Given the description of an element on the screen output the (x, y) to click on. 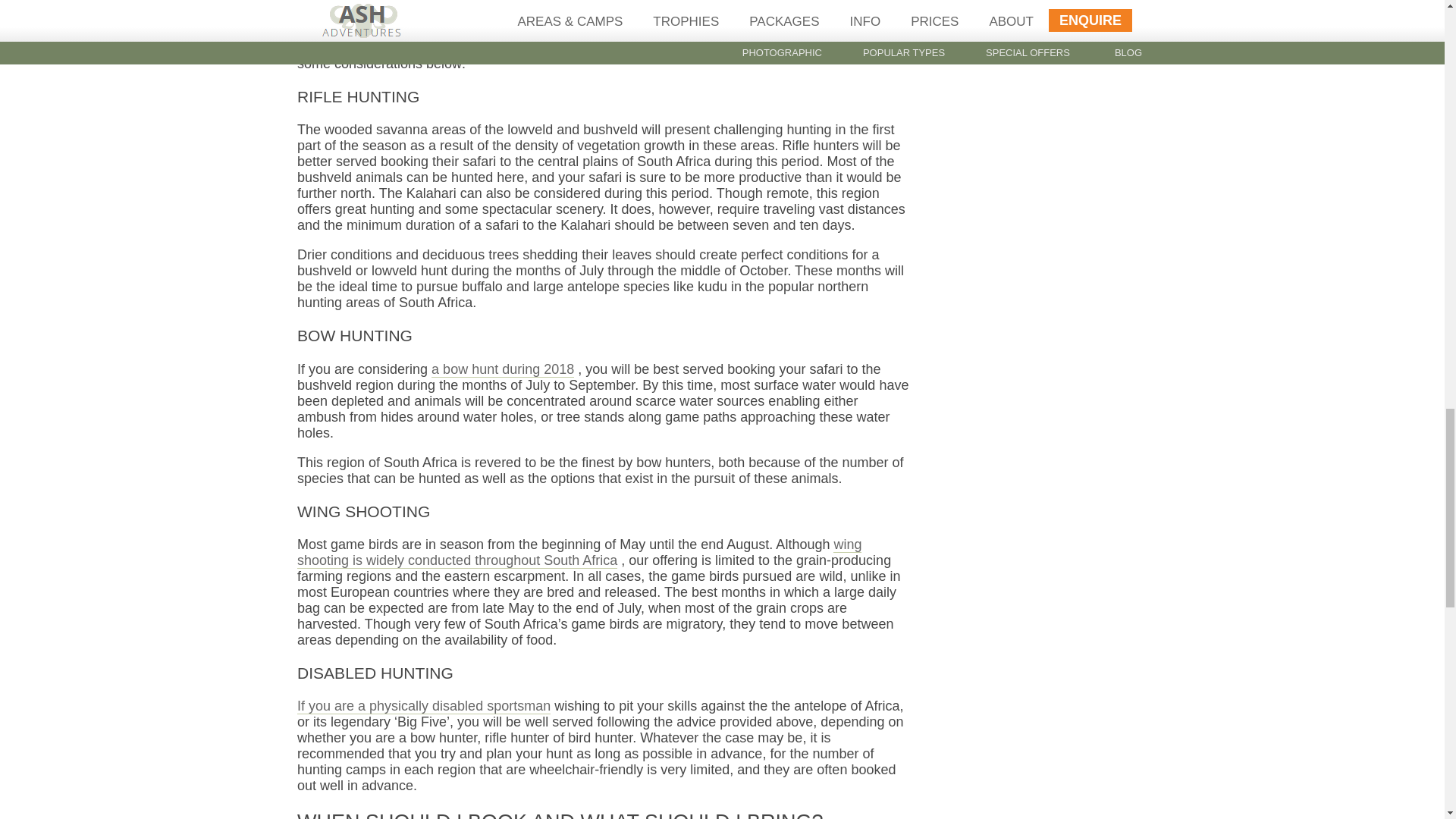
If you are a physically disabled sportsman (423, 706)
a bow hunt during 2018 (501, 368)
wing shooting is widely conducted throughout South Africa (579, 552)
